Given the description of an element on the screen output the (x, y) to click on. 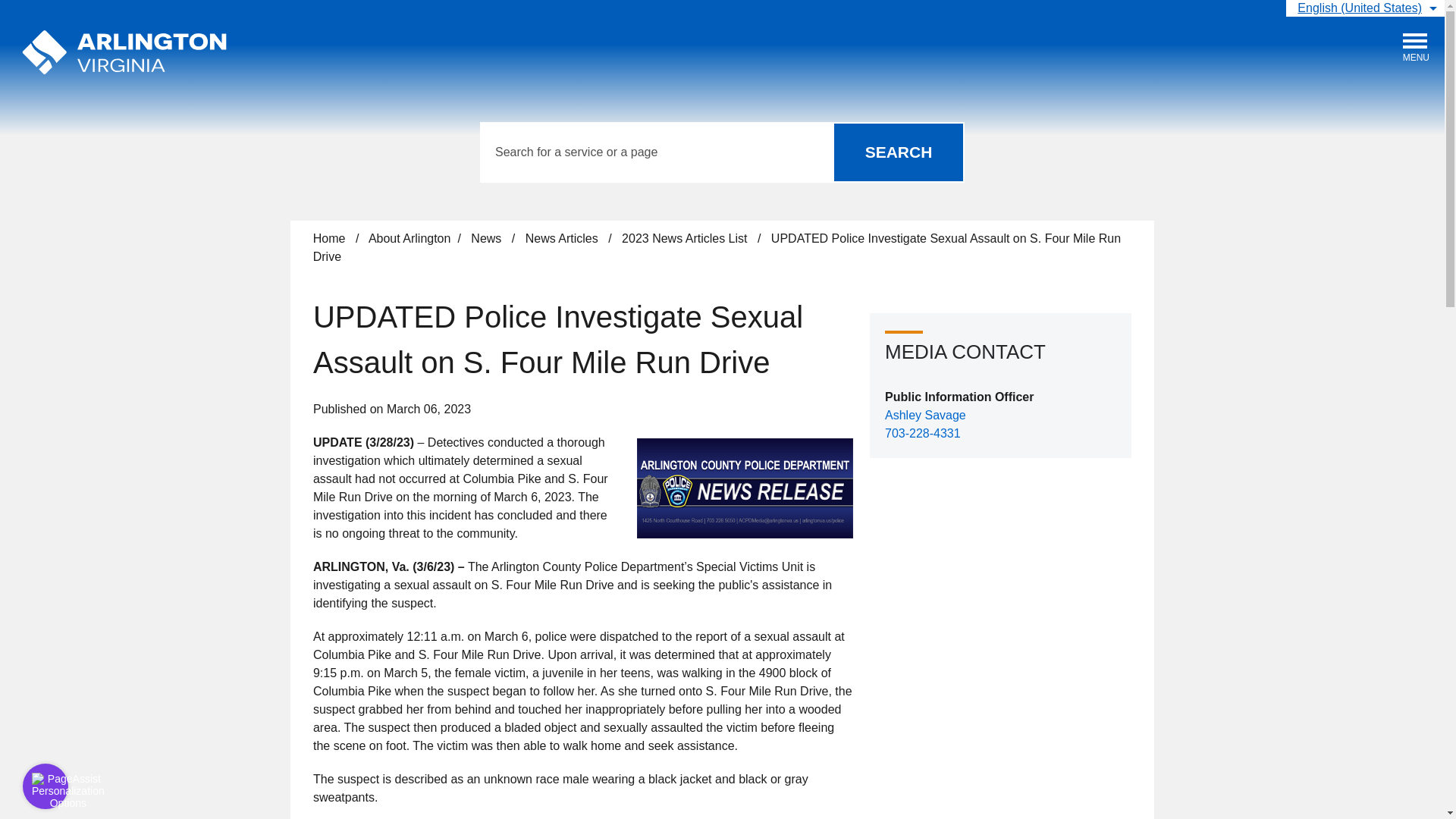
Search (897, 152)
Search (1416, 47)
Arlington County Virginia - Home - Logo (897, 152)
Search (124, 52)
